Given the description of an element on the screen output the (x, y) to click on. 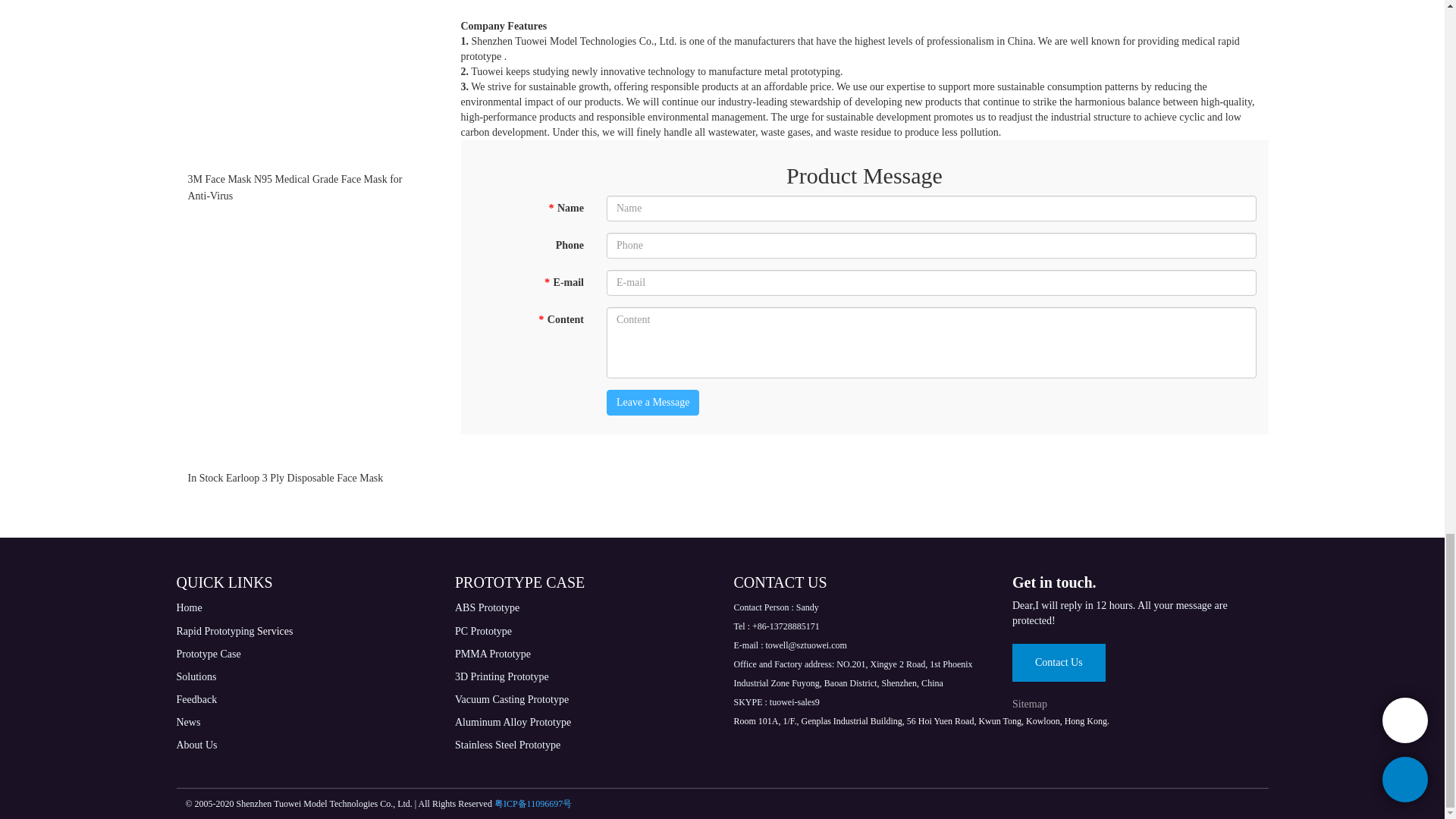
In Stock Earloop 3 Ply Disposable Face Mask (306, 478)
3M Face Mask N95 Medical Grade Face Mask for Anti-Virus (306, 187)
